Given the description of an element on the screen output the (x, y) to click on. 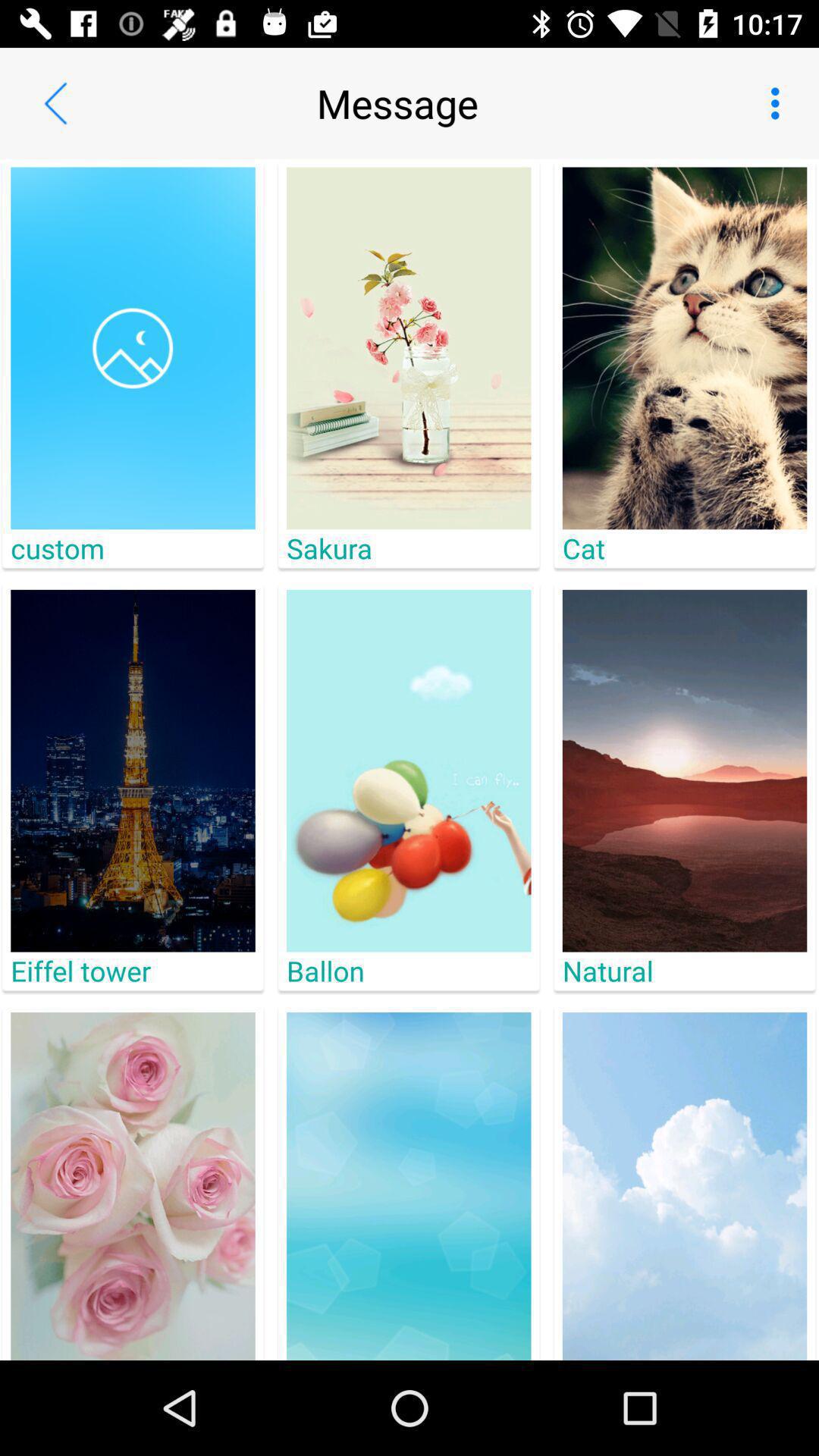
turn on the item to the left of message icon (55, 103)
